Given the description of an element on the screen output the (x, y) to click on. 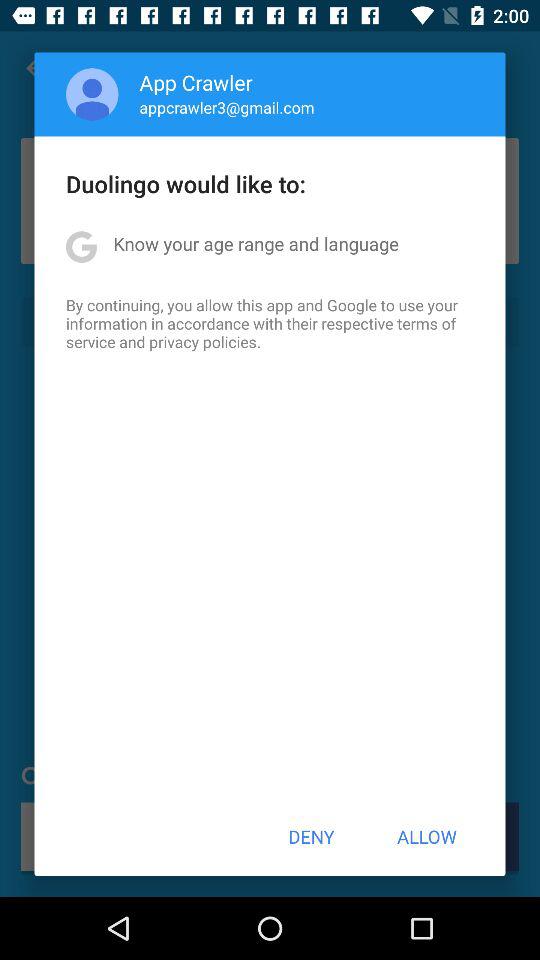
choose icon below the by continuing you icon (311, 836)
